Given the description of an element on the screen output the (x, y) to click on. 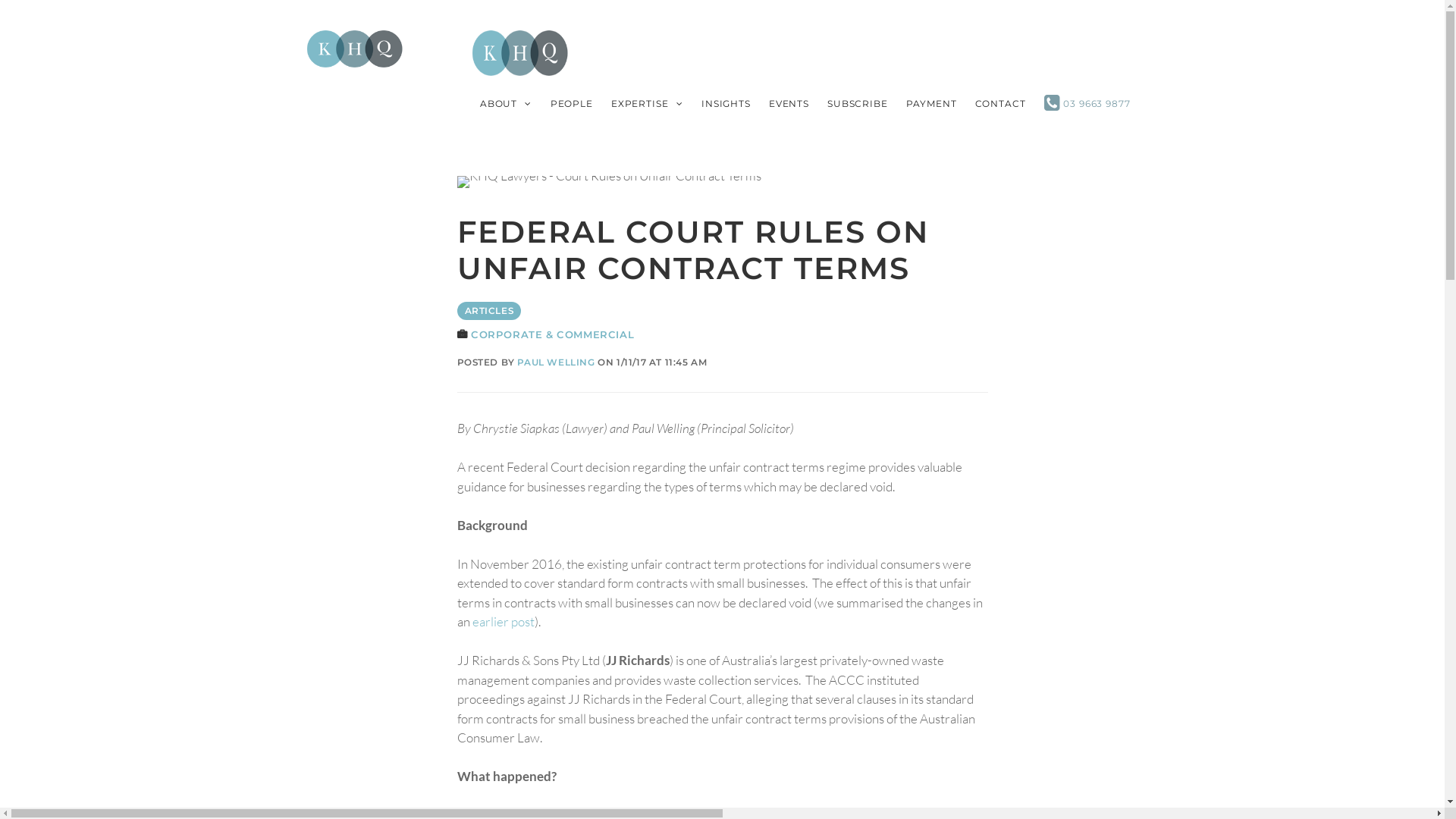
CONTACT Element type: text (1000, 102)
PEOPLE Element type: text (571, 102)
03 9663 9877 Element type: text (1087, 102)
KHQ Lawyers Element type: hover (353, 48)
ABOUT Element type: text (505, 102)
SUBSCRIBE Element type: text (857, 102)
INSIGHTS Element type: text (725, 102)
earlier post Element type: text (502, 621)
EVENTS Element type: text (788, 102)
PAYMENT Element type: text (931, 102)
PAUL WELLING Element type: text (555, 361)
EXPERTISE Element type: text (647, 102)
CORPORATE & COMMERCIAL Element type: text (551, 334)
KHQ Lawyers Element type: hover (353, 47)
KHQ Lawyers Element type: hover (519, 54)
